Given the description of an element on the screen output the (x, y) to click on. 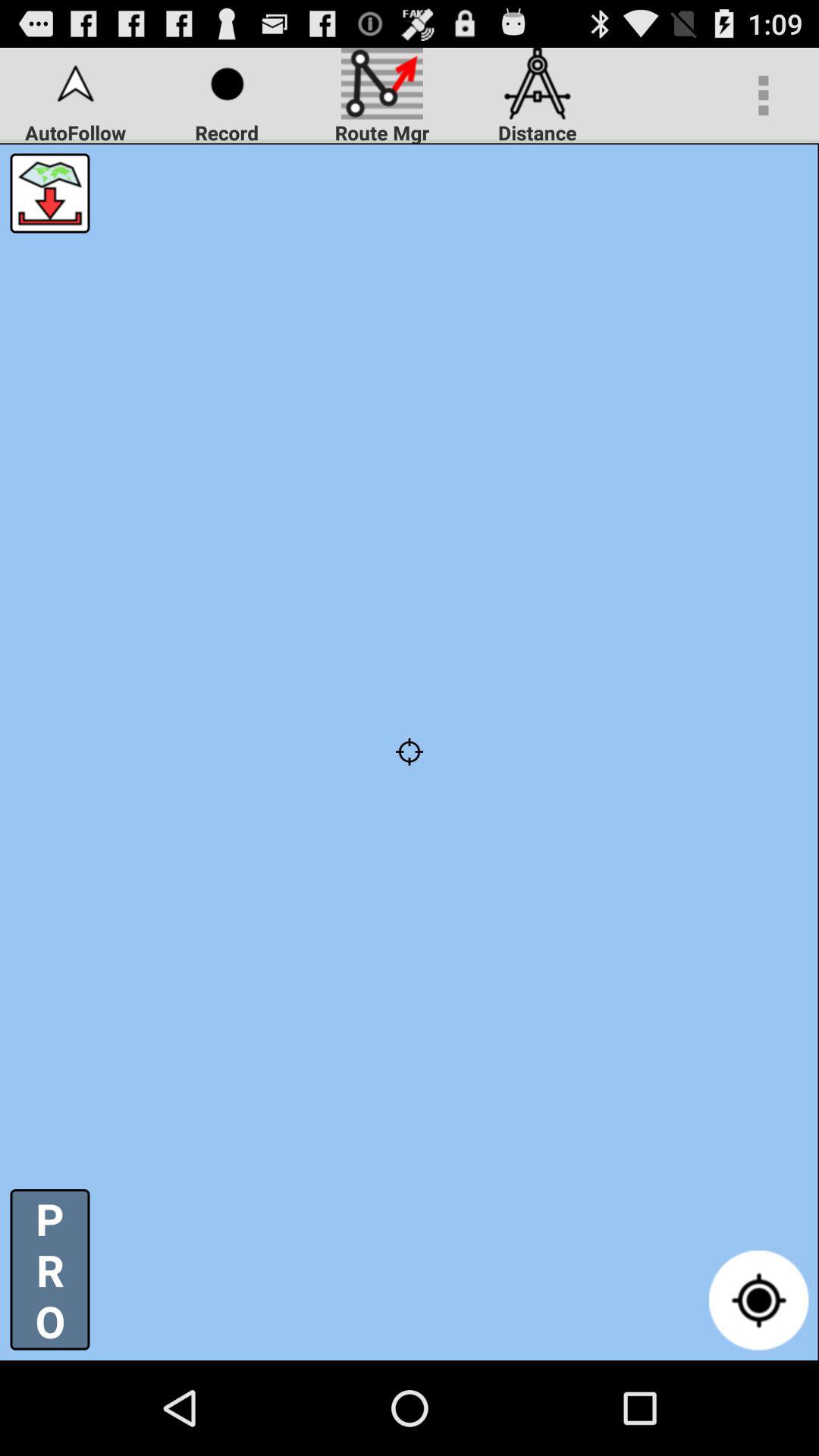
open the item at the top right corner (763, 95)
